Given the description of an element on the screen output the (x, y) to click on. 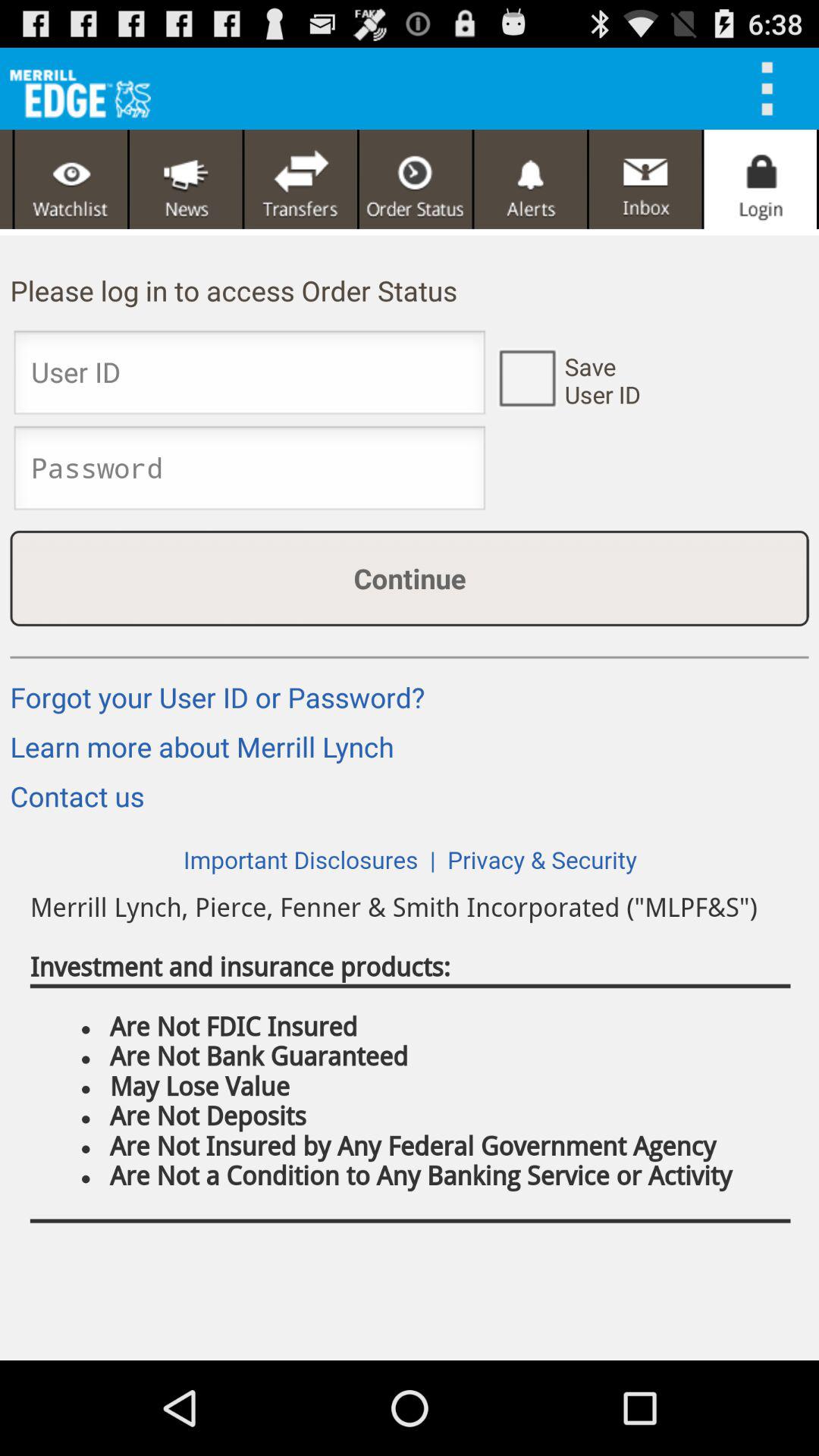
options (772, 88)
